Given the description of an element on the screen output the (x, y) to click on. 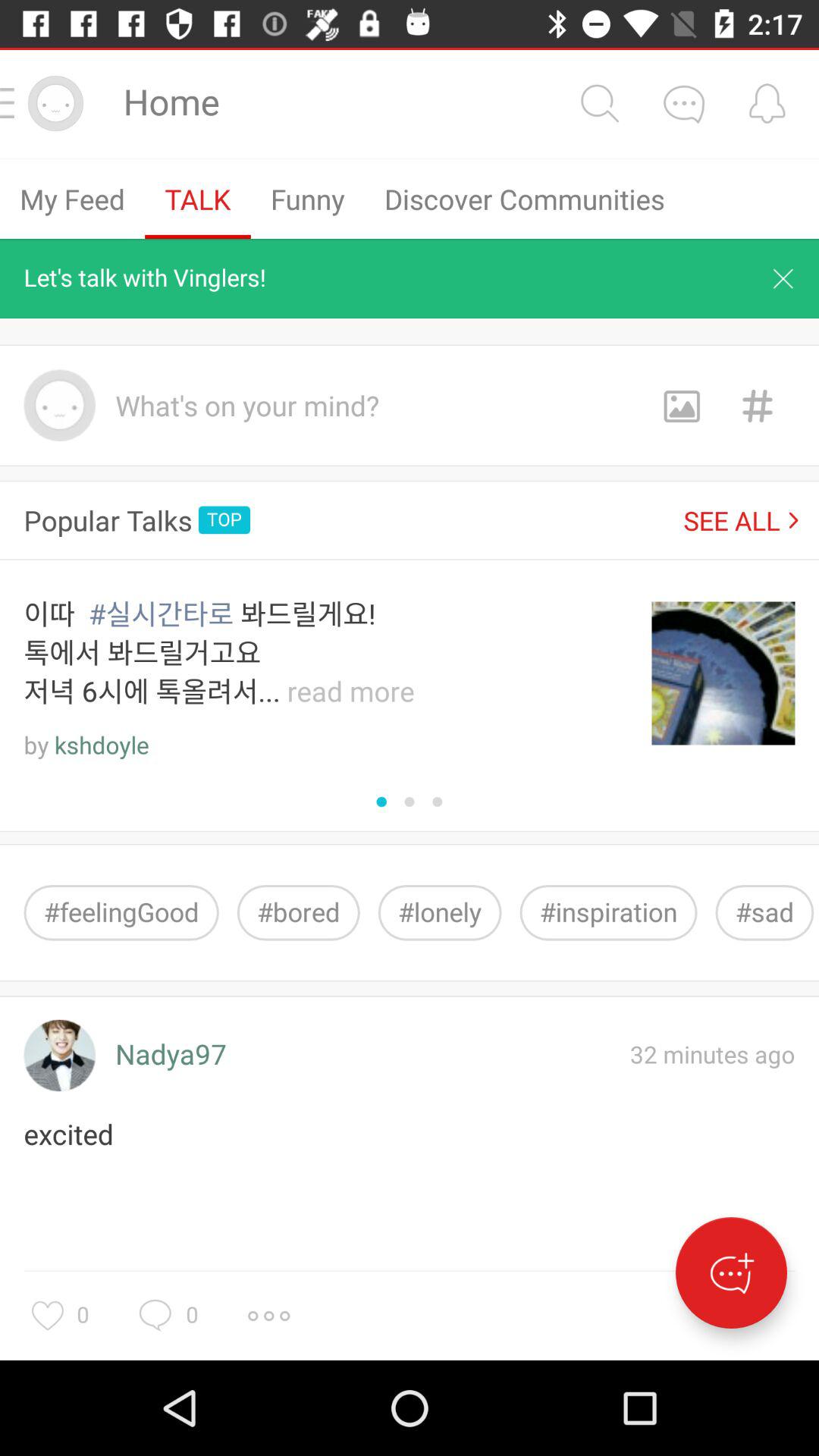
search (599, 103)
